Given the description of an element on the screen output the (x, y) to click on. 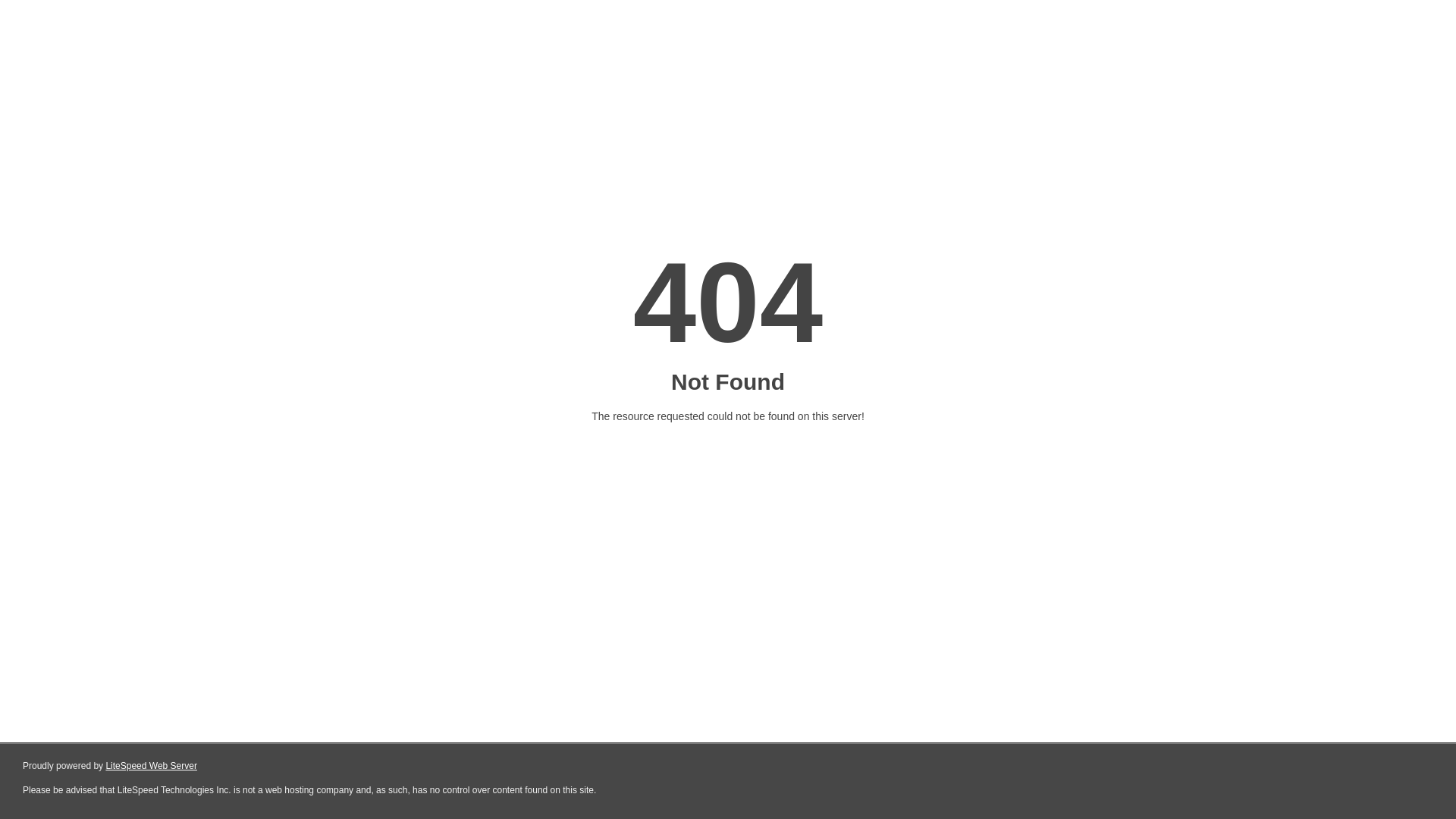
LiteSpeed Web Server Element type: text (151, 765)
